Given the description of an element on the screen output the (x, y) to click on. 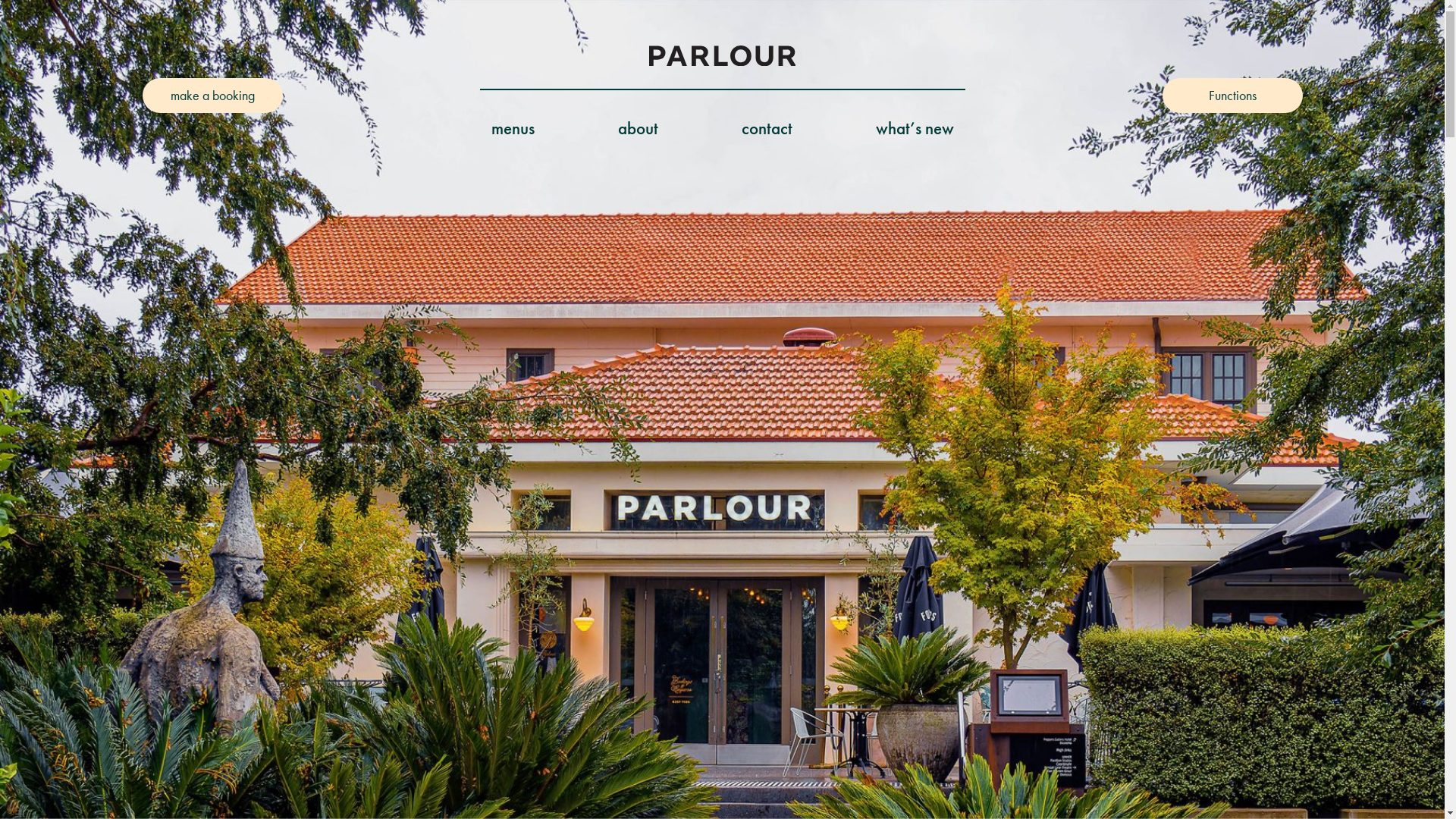
Parlour Element type: text (722, 55)
about Element type: text (637, 128)
Functions Element type: text (1231, 95)
menus Element type: text (512, 128)
contact Element type: text (766, 128)
make a booking Element type: text (212, 95)
